Given the description of an element on the screen output the (x, y) to click on. 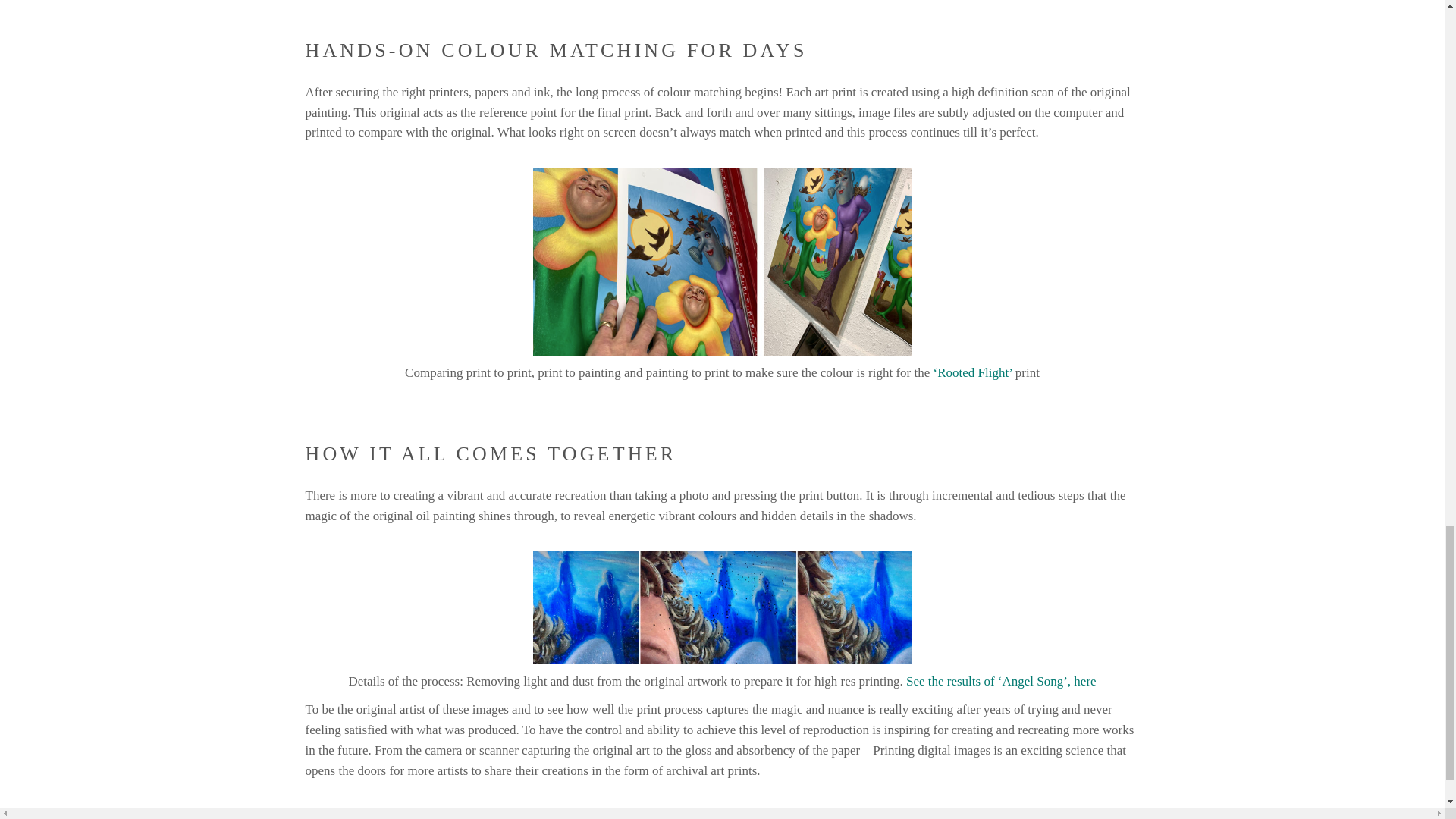
Michael-abraham-prints-color-matching-rooted-flight-flower (721, 261)
Michael-Abraham-prints-cleaning-digital-file-angel-song (721, 607)
